Given the description of an element on the screen output the (x, y) to click on. 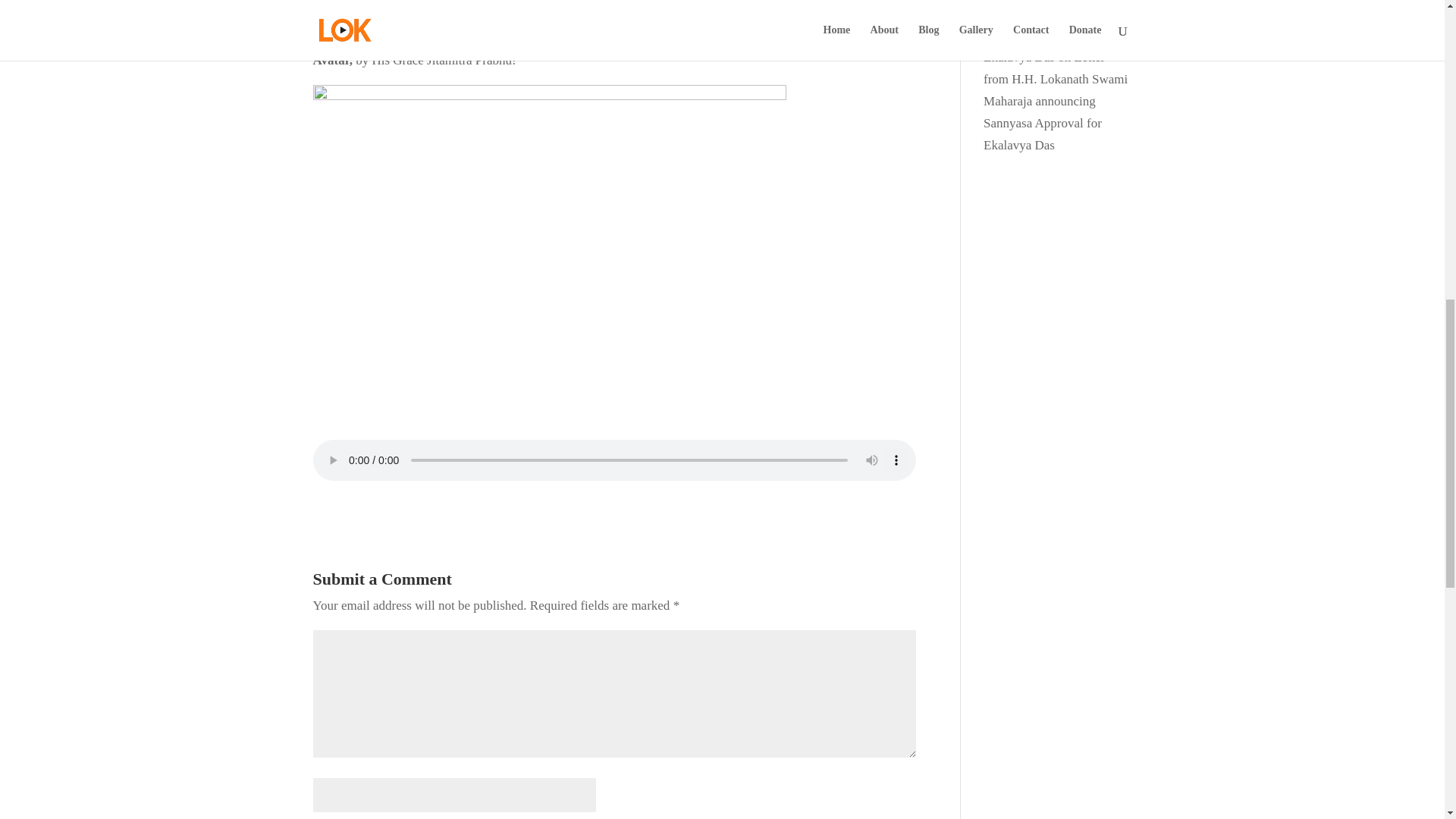
Ekalavya Das (1019, 56)
